Given the description of an element on the screen output the (x, y) to click on. 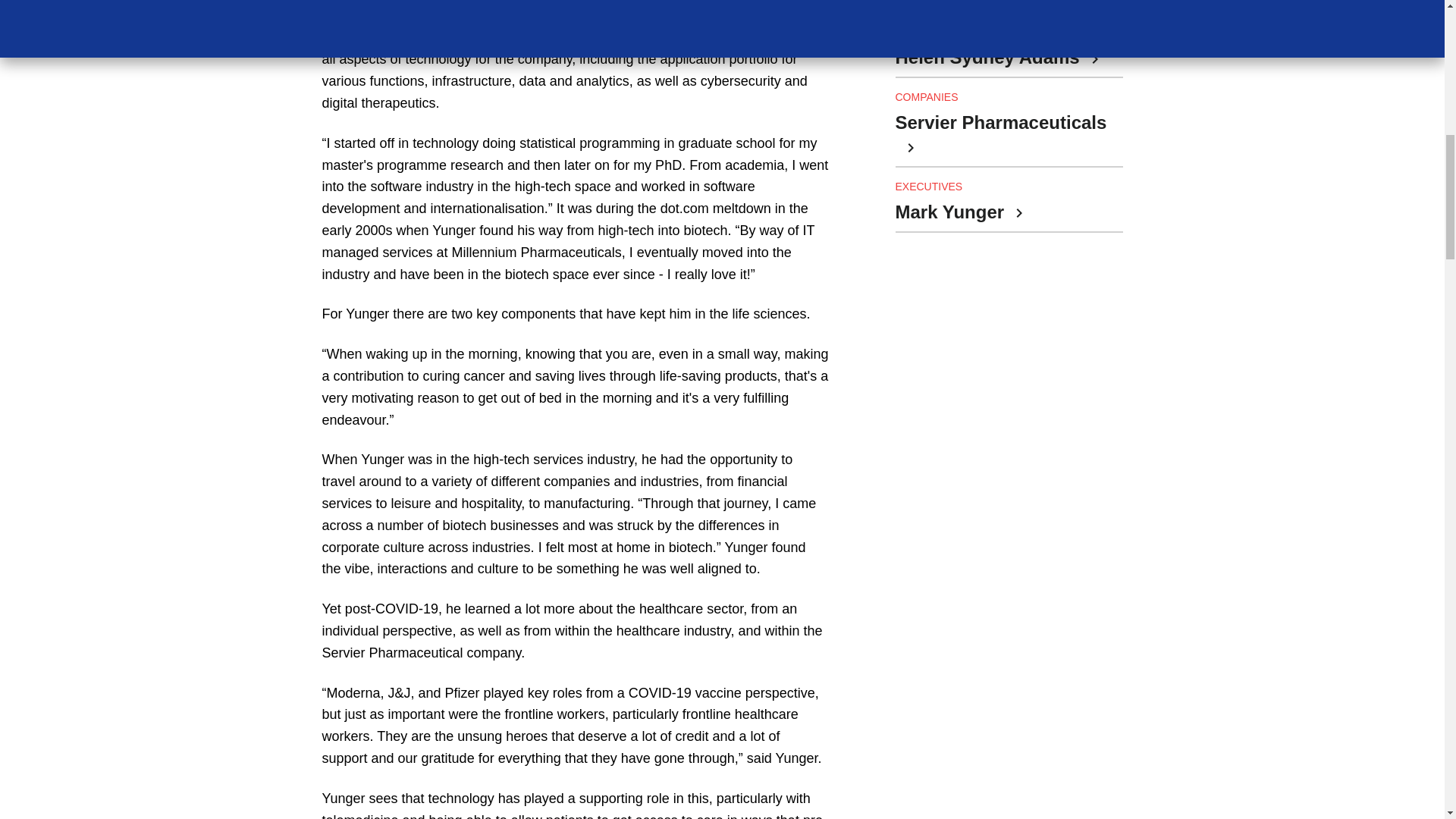
Helen Sydney Adams (996, 57)
Mark Yunger (958, 212)
Servier Pharmaceuticals (1000, 135)
